Given the description of an element on the screen output the (x, y) to click on. 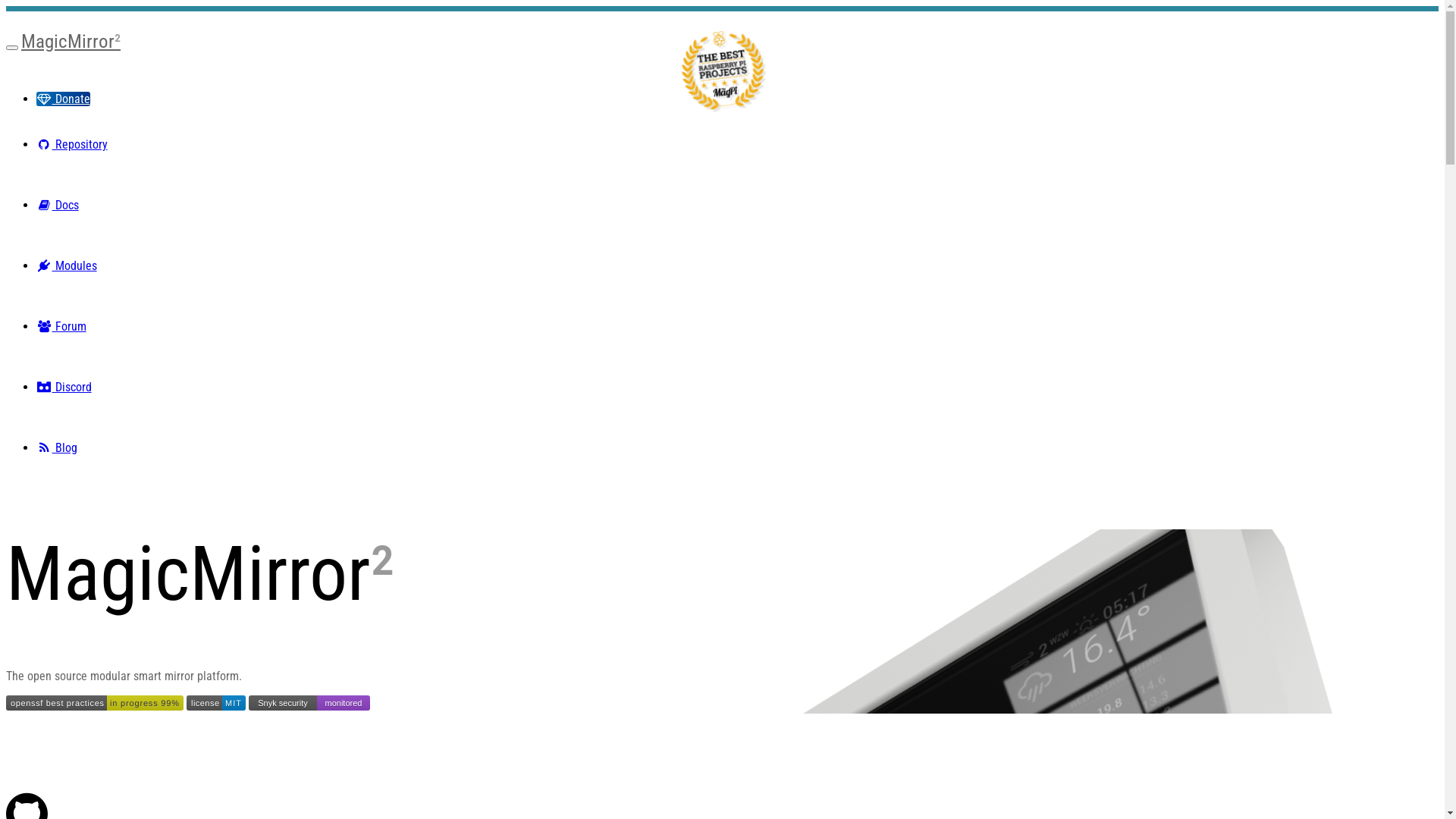
Donate Element type: text (63, 98)
Forum Element type: text (61, 326)
Discord Element type: text (63, 386)
Blog Element type: text (56, 447)
Modules Element type: text (66, 265)
Docs Element type: text (57, 204)
Toggle navigation Element type: text (12, 47)
Repository Element type: text (71, 144)
